Given the description of an element on the screen output the (x, y) to click on. 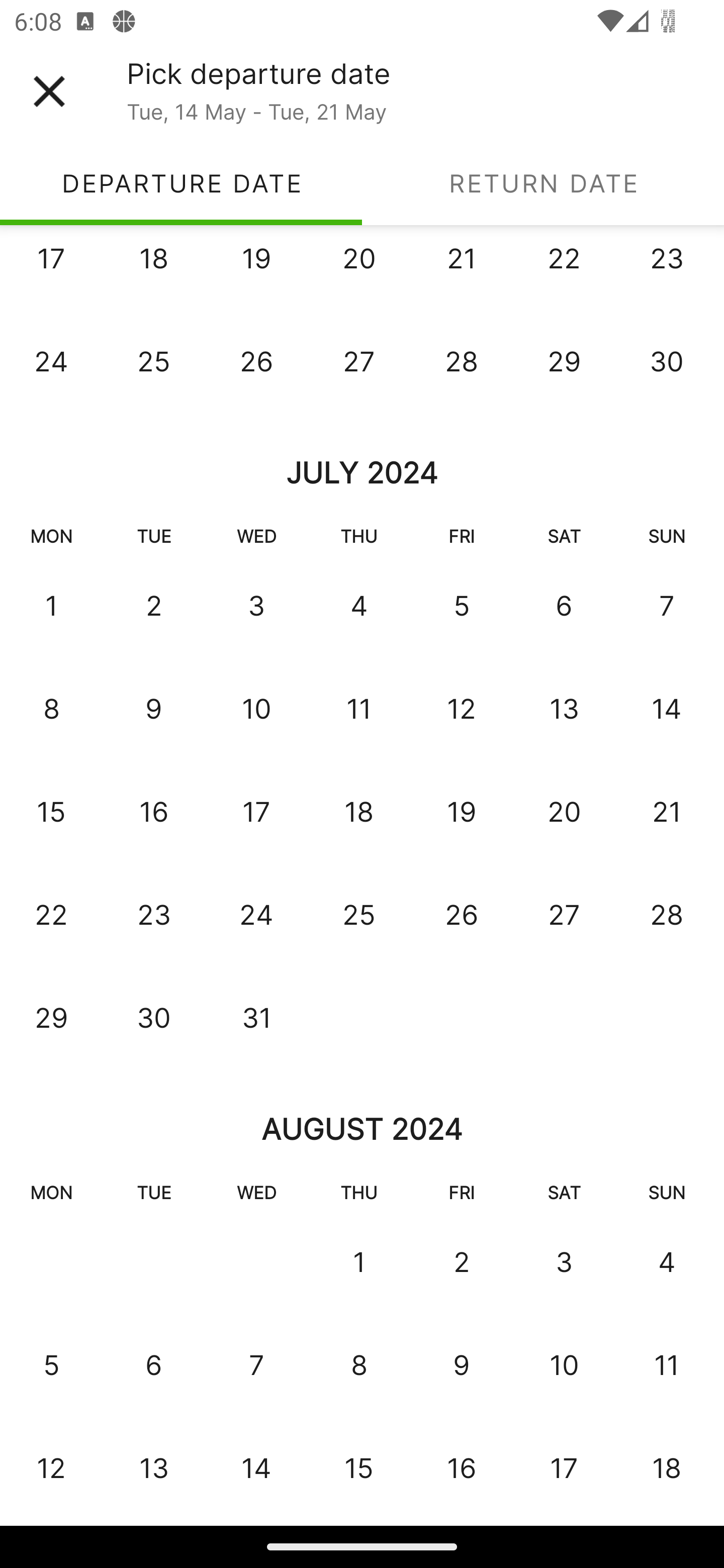
Return Date RETURN DATE (543, 183)
